Given the description of an element on the screen output the (x, y) to click on. 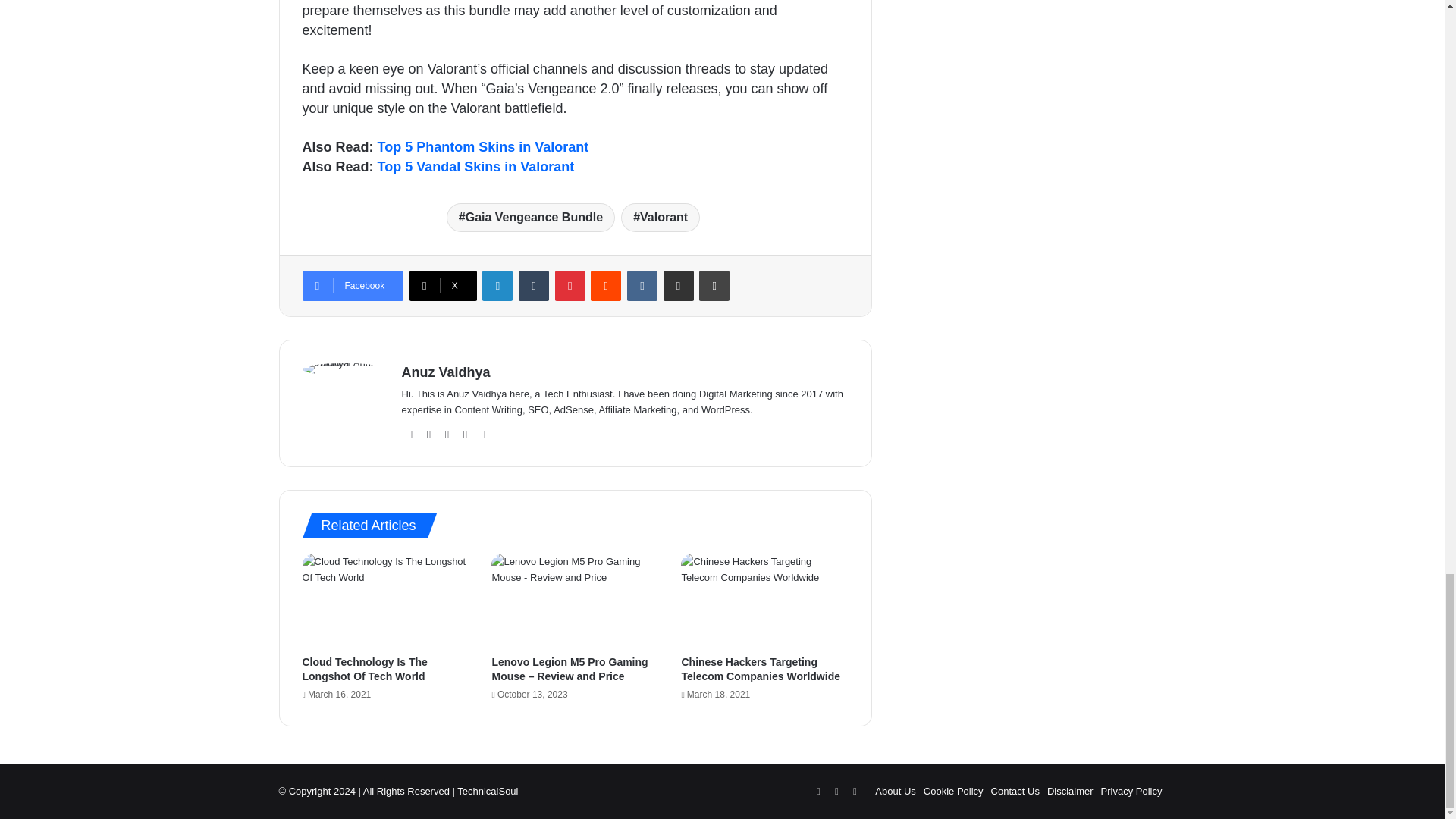
Top 5 Vandal Skins in Valorant (476, 166)
Gaia Vengeance Bundle (530, 217)
Top 5 Phantom Skins in Valorant (483, 146)
Valorant (660, 217)
